Given the description of an element on the screen output the (x, y) to click on. 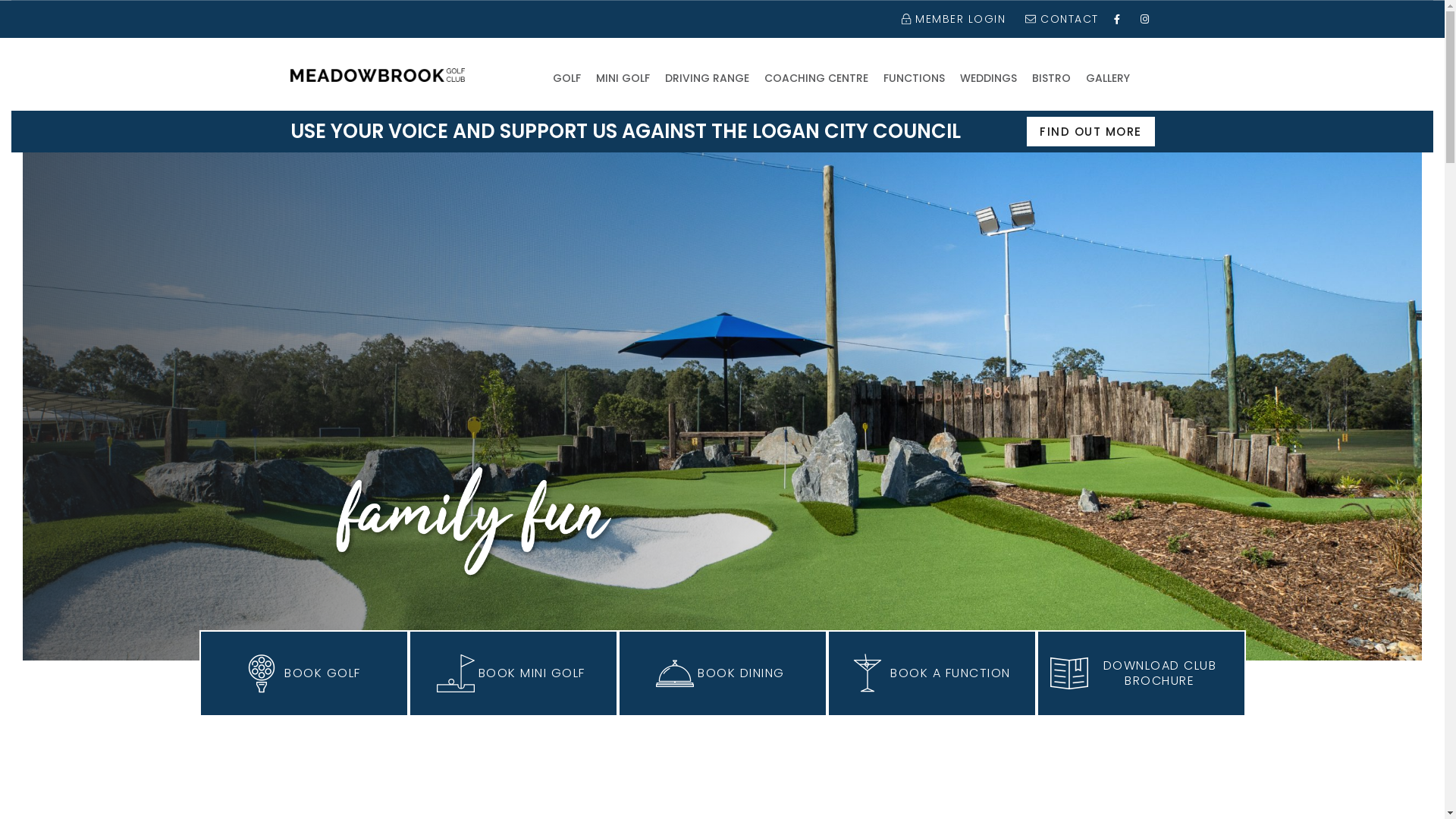
GALLERY Element type: text (1107, 78)
MINI GOLF Element type: text (622, 78)
GOLF Element type: text (566, 78)
BISTRO Element type: text (1050, 78)
WEDDINGS Element type: text (988, 78)
FIND OUT MORE Element type: text (1090, 131)
CONTACT Element type: text (1059, 18)
MEMBER LOGIN Element type: text (951, 18)
DRIVING RANGE Element type: text (706, 78)
COACHING CENTRE Element type: text (816, 78)
FUNCTIONS Element type: text (913, 78)
